Given the description of an element on the screen output the (x, y) to click on. 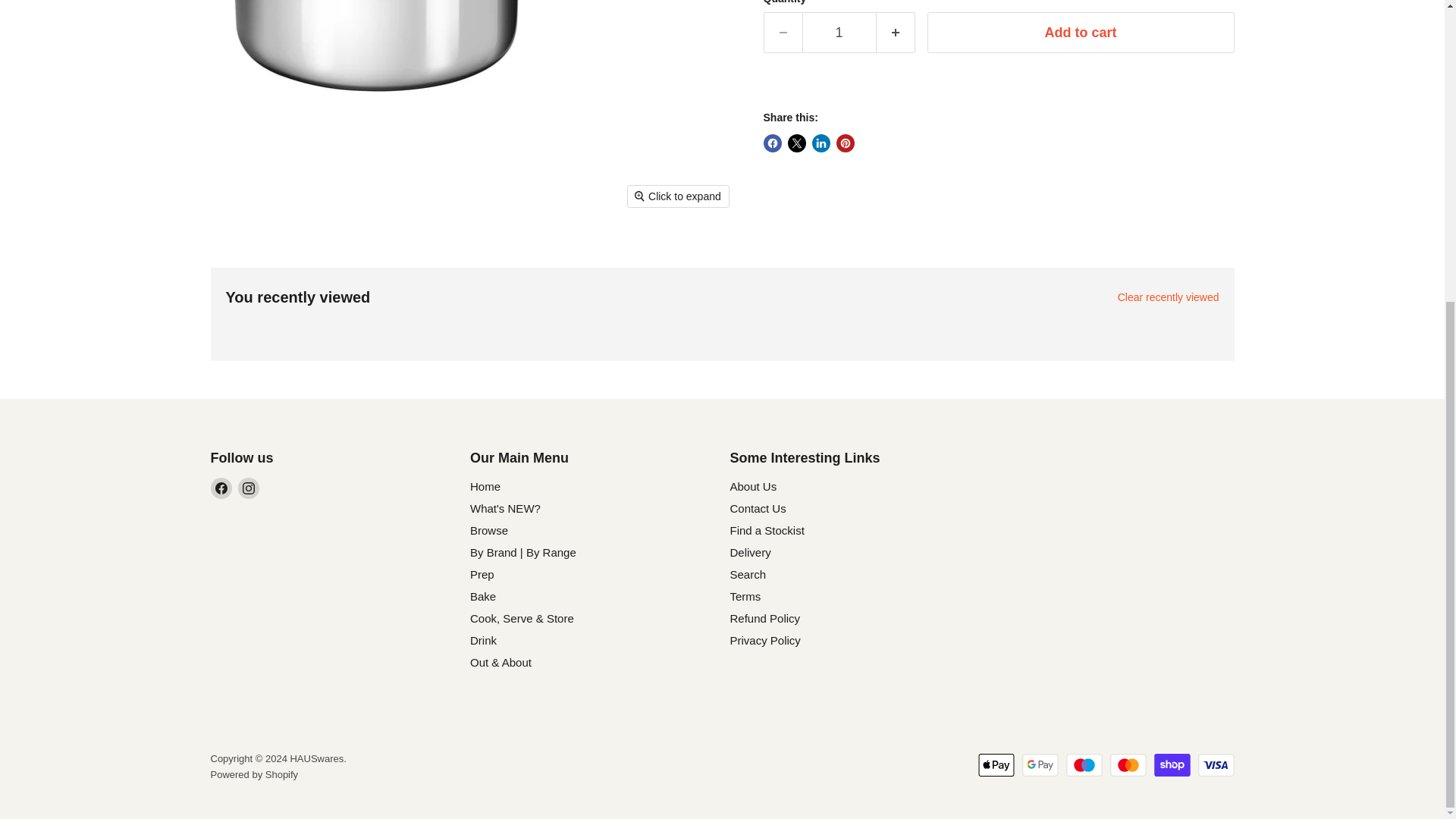
Instagram (248, 487)
1 (839, 33)
Facebook (221, 487)
